Given the description of an element on the screen output the (x, y) to click on. 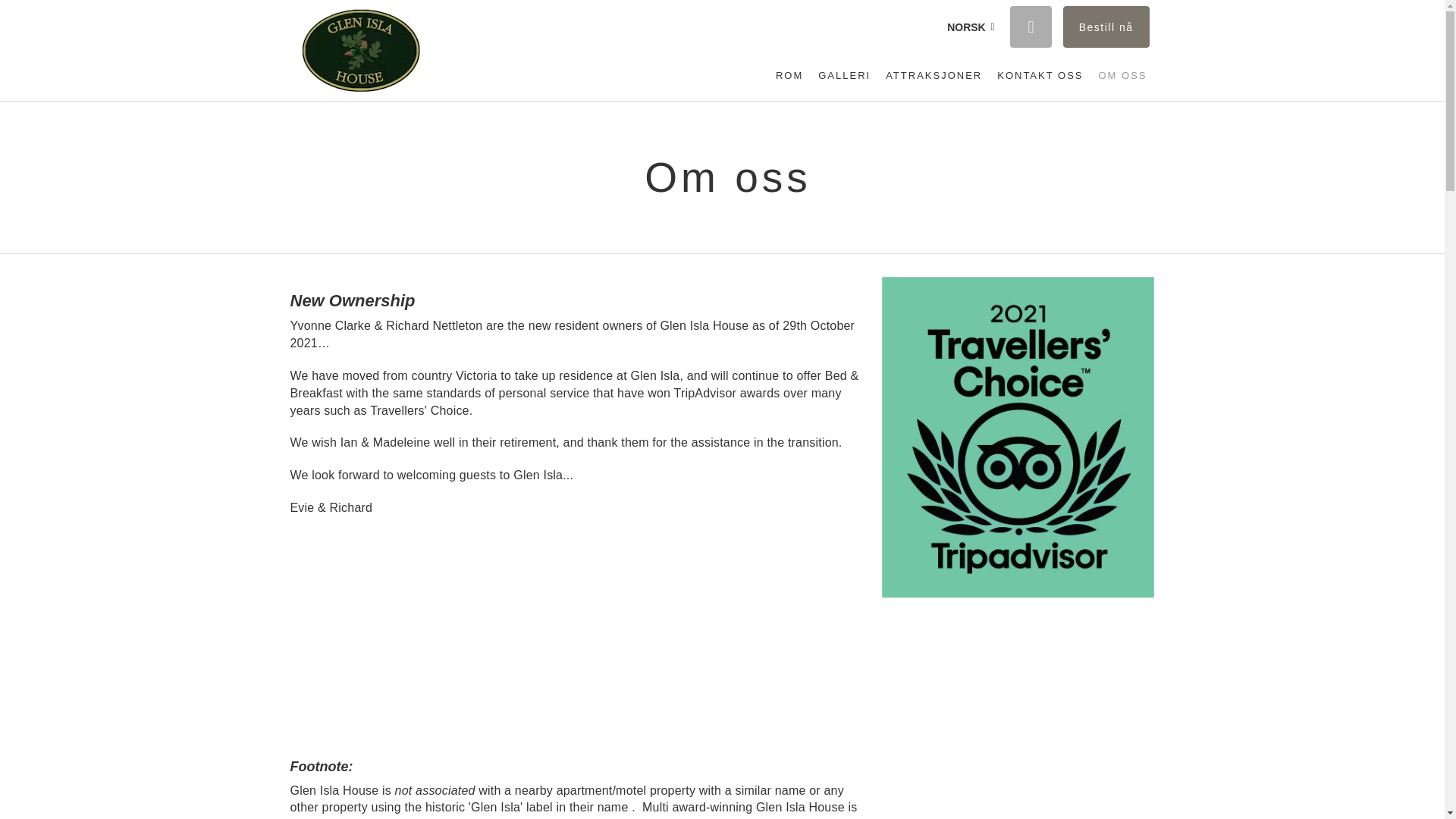
NORSK (971, 27)
GALLERI (843, 75)
OM OSS (1122, 75)
ATTRAKSJONER (933, 75)
KONTAKT OSS (1040, 75)
